Given the description of an element on the screen output the (x, y) to click on. 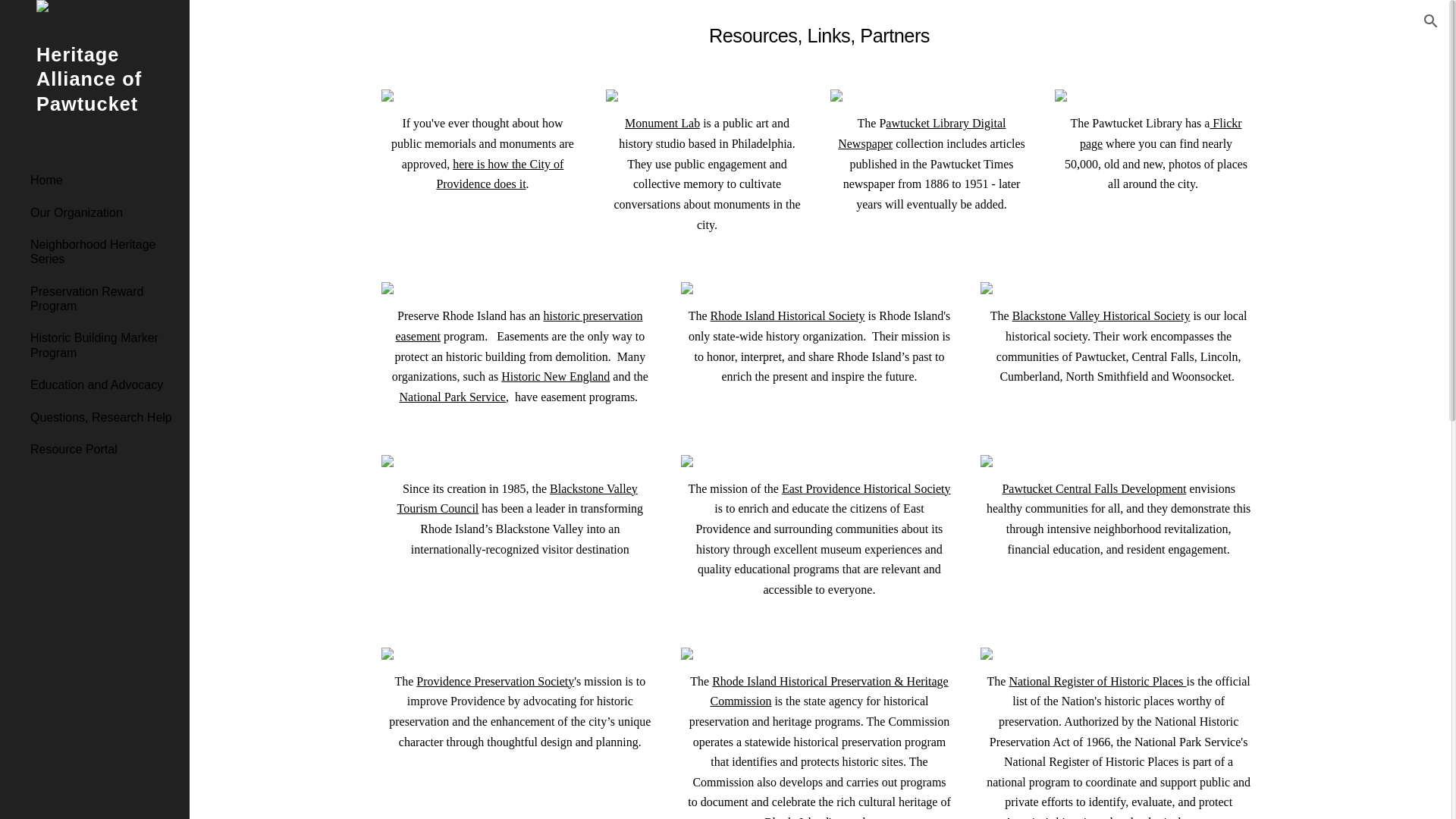
Flickr page (1160, 133)
National Register of Historic Places (1097, 680)
Our Organization (103, 212)
Monument Lab (662, 123)
Resource Portal (103, 449)
National Park Service (451, 396)
Preservation Reward Program (103, 298)
here is how the City of Providence does it (499, 174)
Heritage Alliance of Pawtucket (94, 98)
historic preservation easement (518, 326)
